Given the description of an element on the screen output the (x, y) to click on. 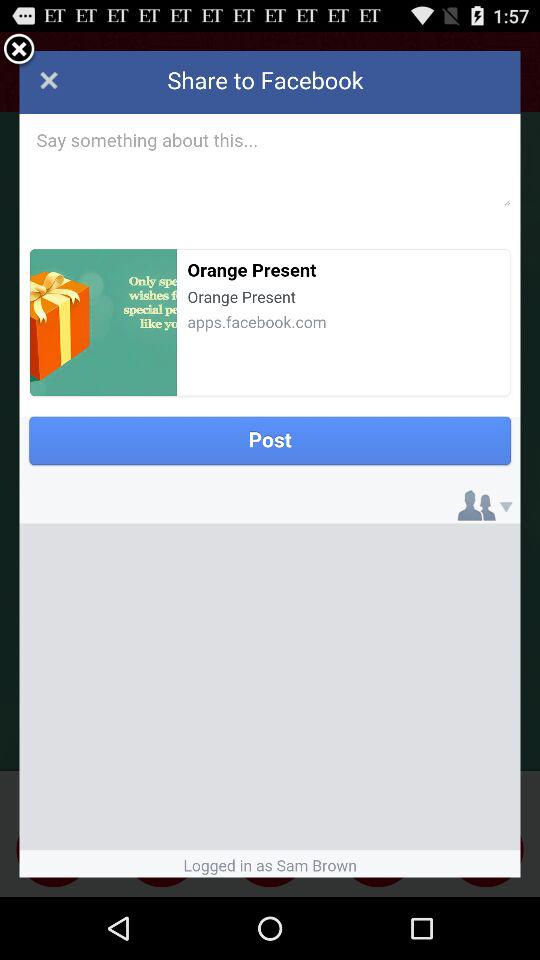
close current option (19, 50)
